Given the description of an element on the screen output the (x, y) to click on. 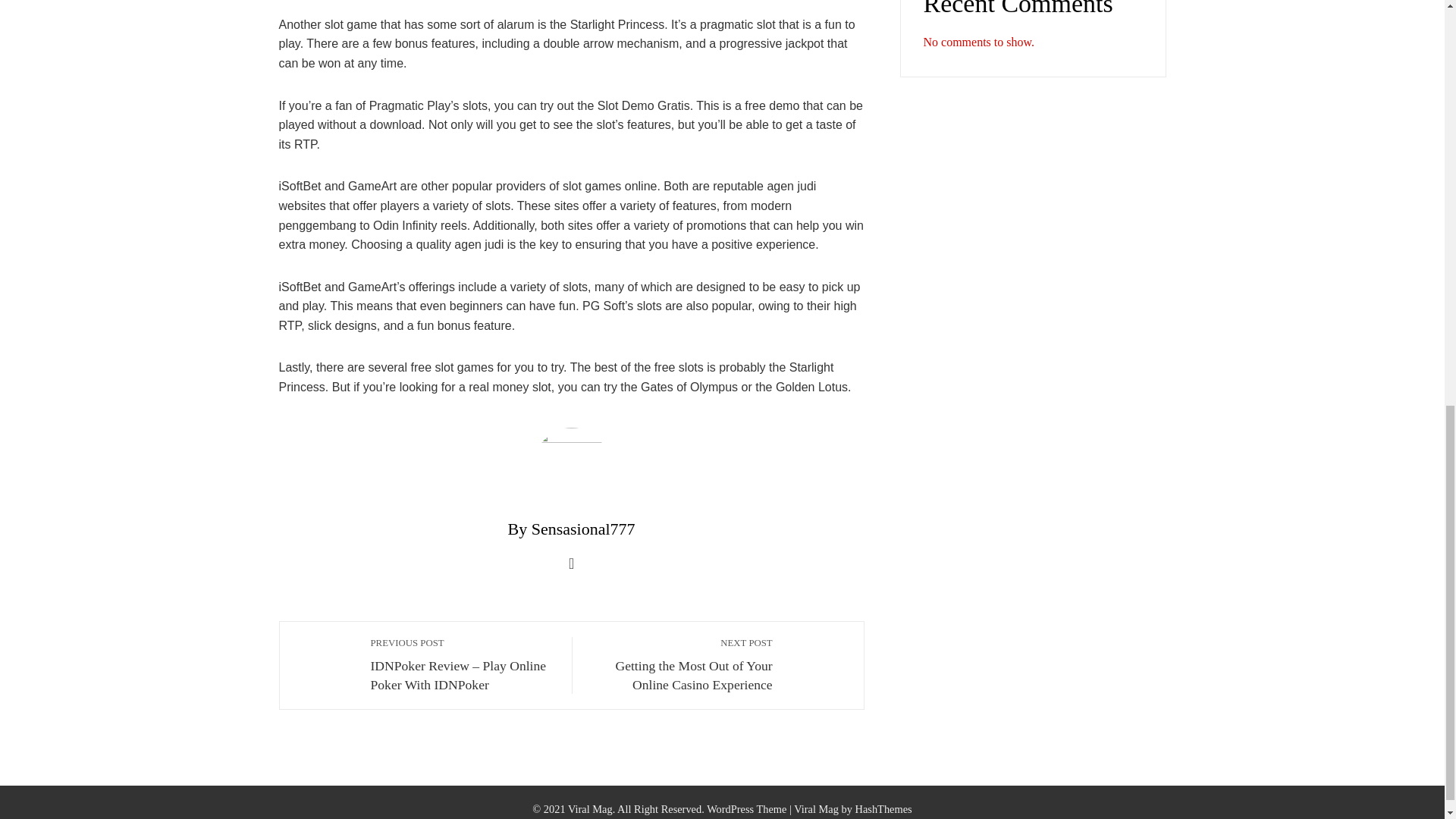
Viral Mag (815, 808)
Download Viral News (815, 808)
